Given the description of an element on the screen output the (x, y) to click on. 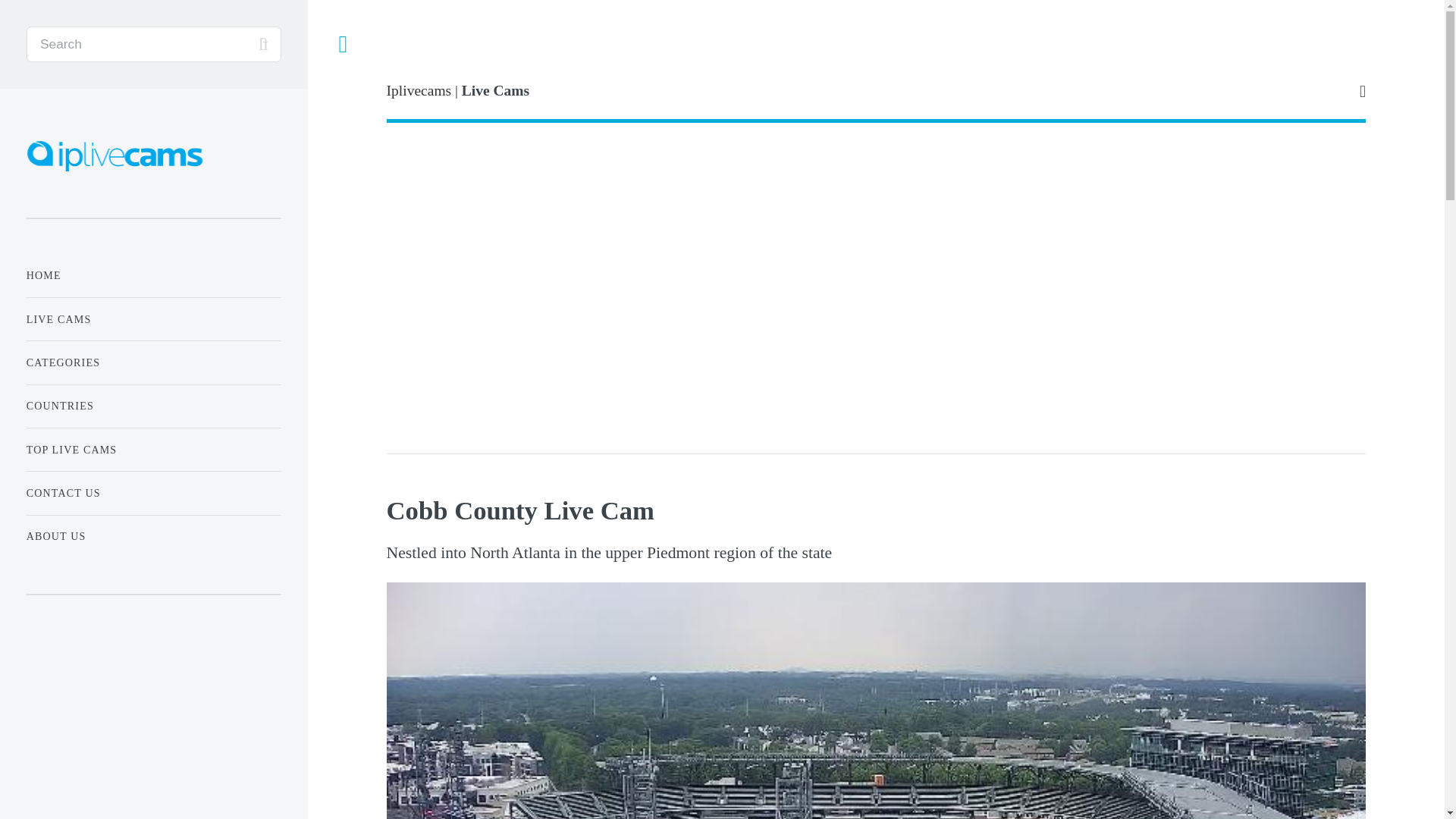
CATEGORIES (153, 362)
ABOUT US (153, 536)
TOP LIVE CAMS (153, 450)
LIVE CAMS (153, 318)
Advertisement (153, 727)
IP Live Cams (117, 155)
HOME (153, 276)
CONTACT US (153, 492)
COUNTRIES (153, 405)
